Given the description of an element on the screen output the (x, y) to click on. 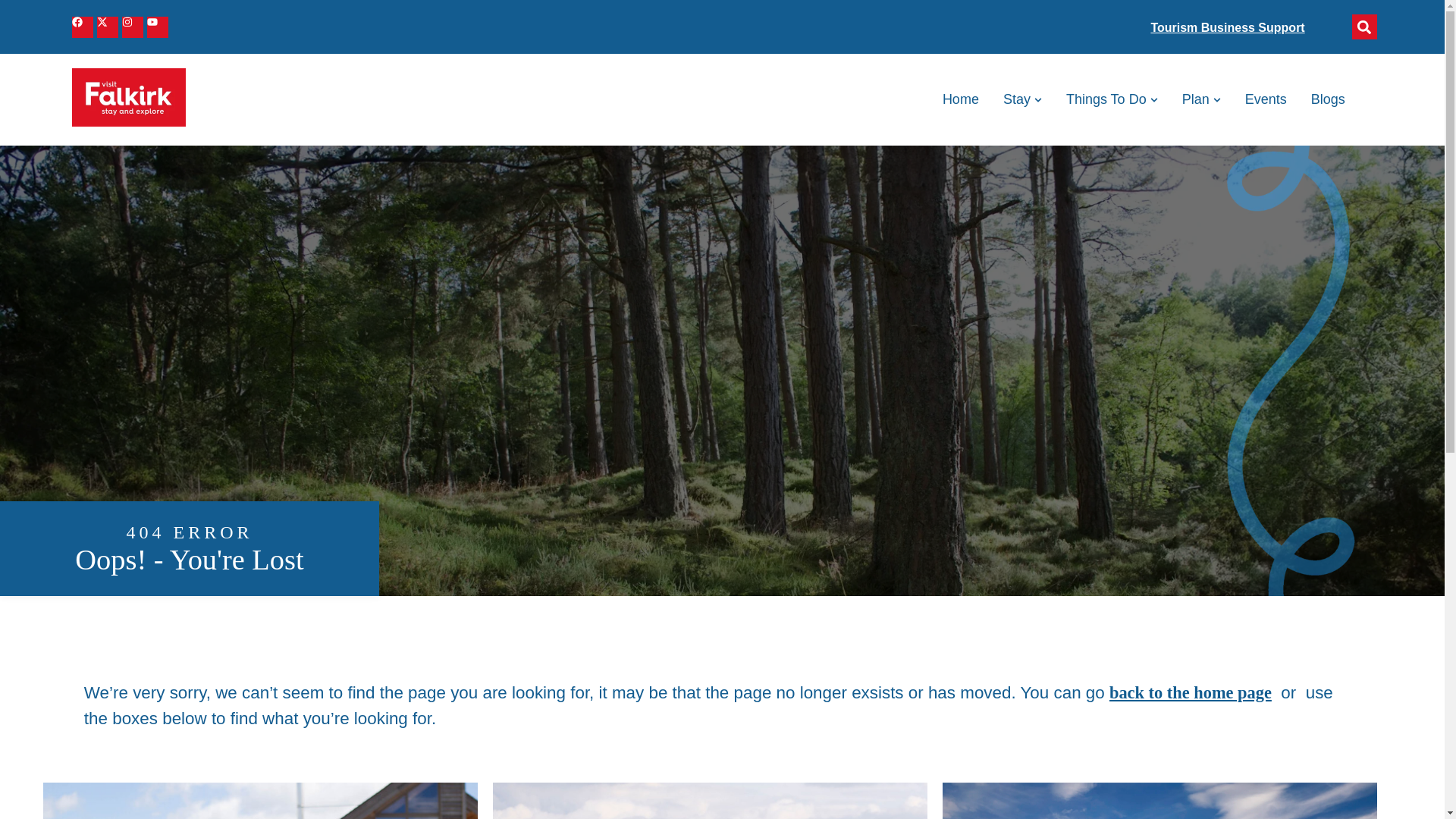
Events (1265, 99)
Blogs (1328, 99)
Things To Do (1106, 99)
Stay (1016, 99)
Plan (1195, 99)
Tourism Business Support (1227, 27)
Home (960, 99)
back to the home page (1190, 692)
